Given the description of an element on the screen output the (x, y) to click on. 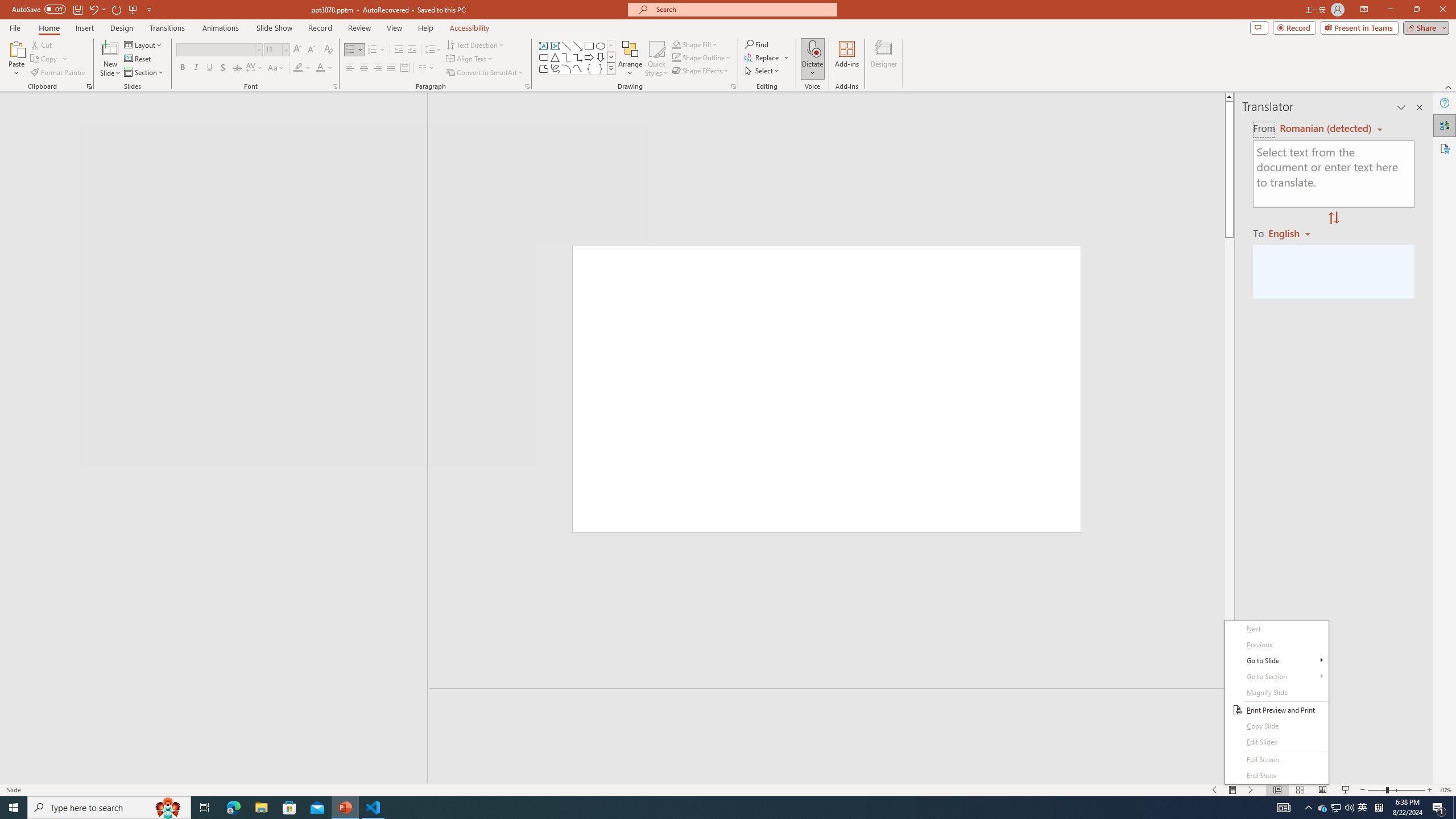
Shape Fill Dark Green, Accent 2 (675, 44)
Class: NetUITWMenuContainer (1276, 701)
Print Preview and Print (1276, 710)
